Given the description of an element on the screen output the (x, y) to click on. 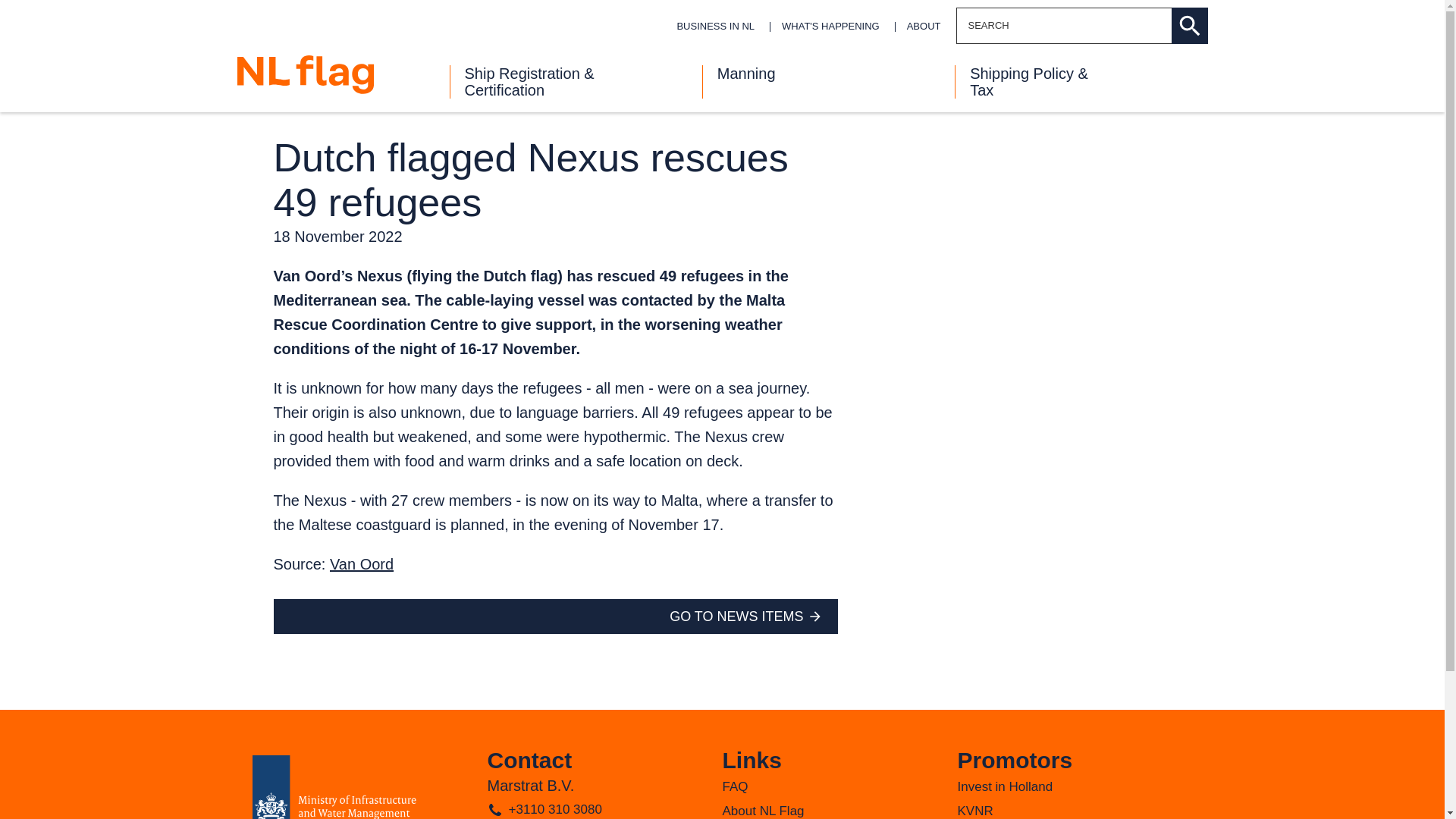
FAQ (735, 786)
GO TO NEWS ITEMS (736, 616)
Invest in Holland (1004, 786)
NL Flag (303, 73)
ABOUT (925, 26)
Start search (1188, 25)
BUSINESS IN NL (716, 26)
WHAT'S HAPPENING (832, 26)
About NL Flag (762, 810)
